Given the description of an element on the screen output the (x, y) to click on. 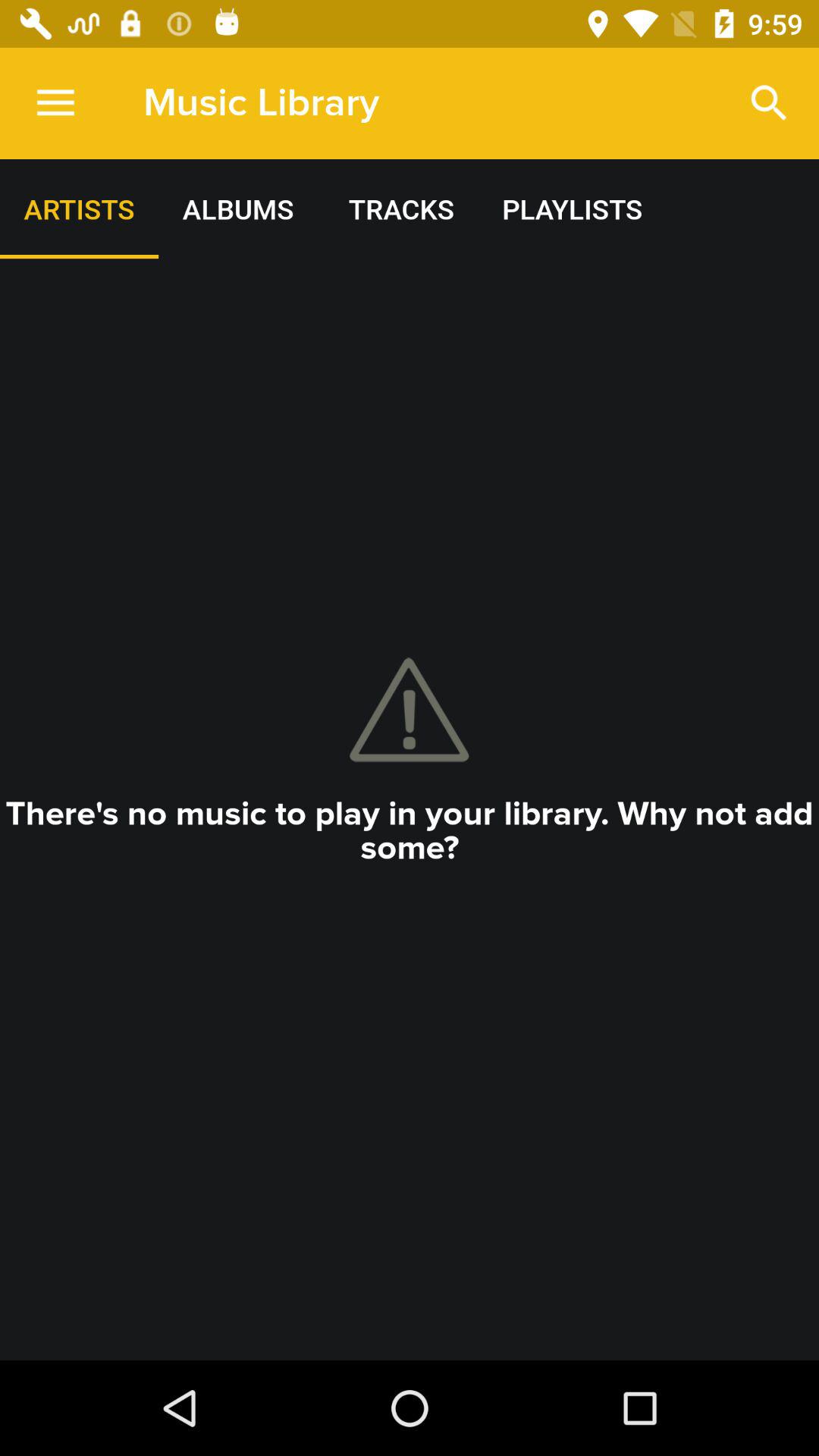
press the icon next to music library icon (55, 103)
